Given the description of an element on the screen output the (x, y) to click on. 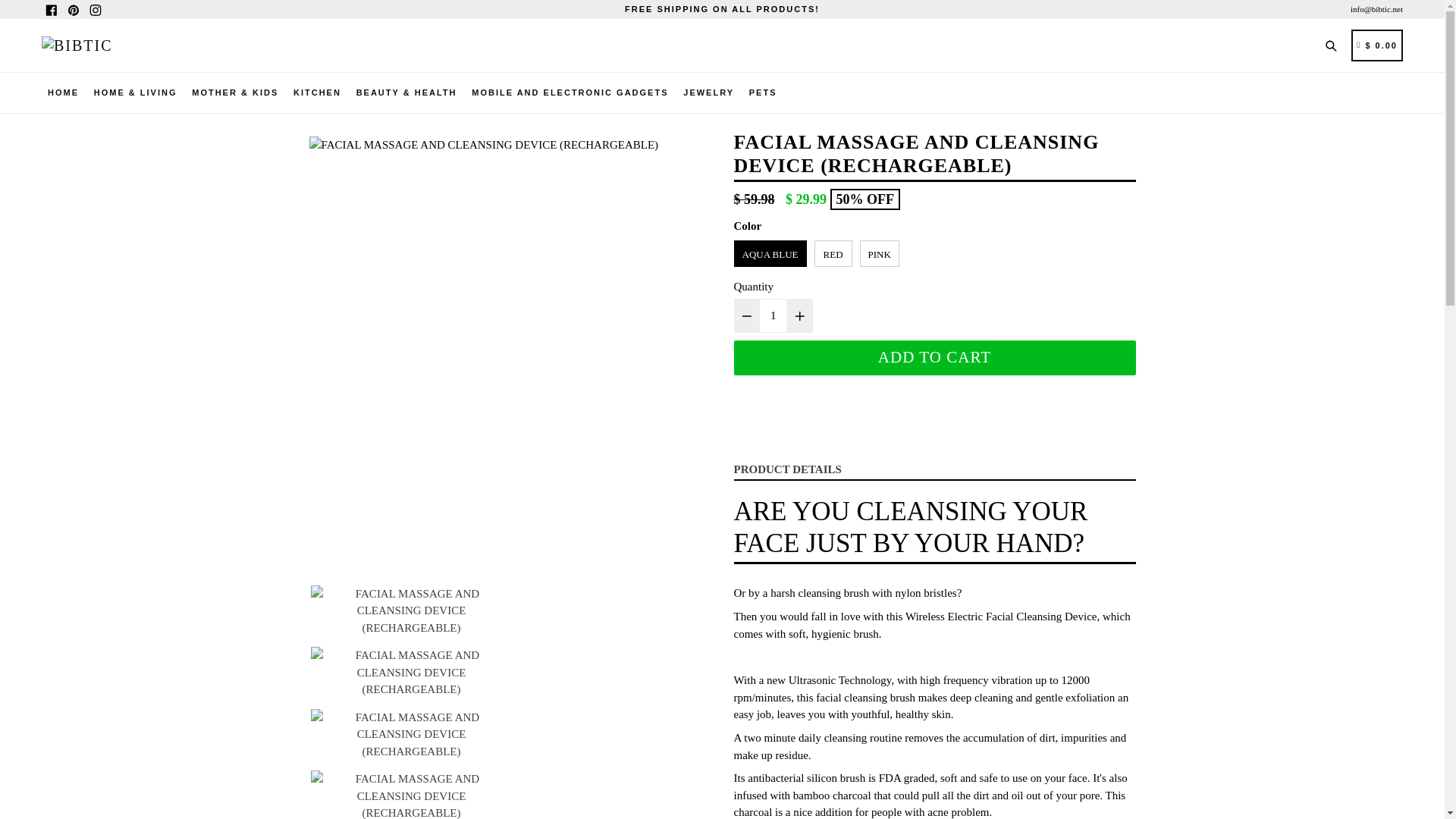
KITCHEN (316, 92)
NEXT SLIDE (705, 818)
Bibtic on Instagram (94, 9)
PREVIOUS SLIDE (315, 818)
HOME (63, 92)
Bibtic on Pinterest (73, 9)
Facebook (51, 9)
Bibtic on Facebook (51, 9)
Search (1334, 44)
Pinterest (73, 9)
